Given the description of an element on the screen output the (x, y) to click on. 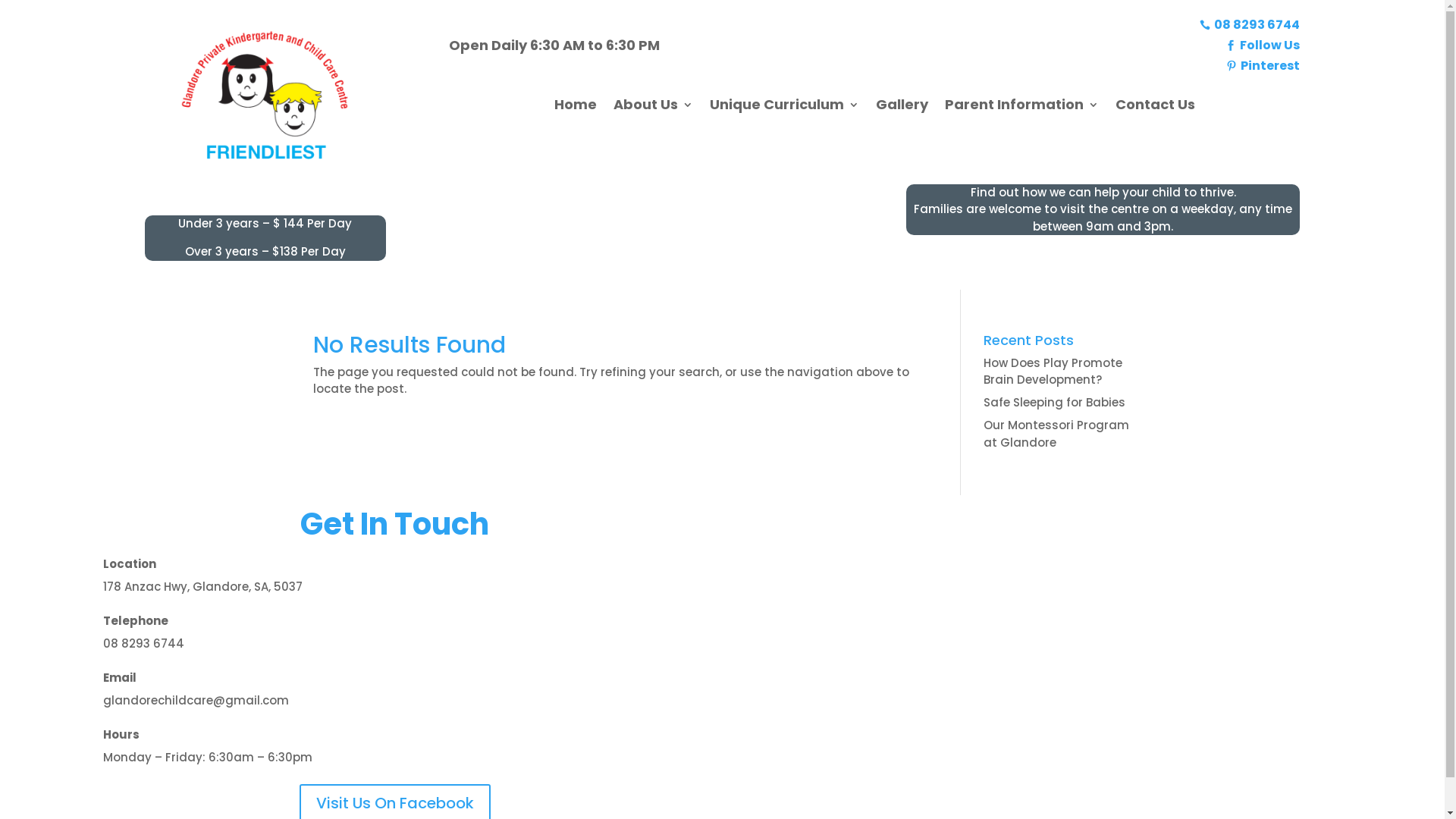
Unique Curriculum Element type: text (784, 107)
How Does Play Promote Brain Development? Element type: text (1052, 371)
Gallery Element type: text (901, 107)
Our Montessori Program at Glandore Element type: text (1056, 433)
About Us Element type: text (653, 107)
Parent Information Element type: text (1021, 107)
cropped-glandore-logo.png Element type: hover (264, 98)
Contact Us Element type: text (1155, 107)
Home Element type: text (575, 107)
Safe Sleeping for Babies Element type: text (1054, 402)
